Given the description of an element on the screen output the (x, y) to click on. 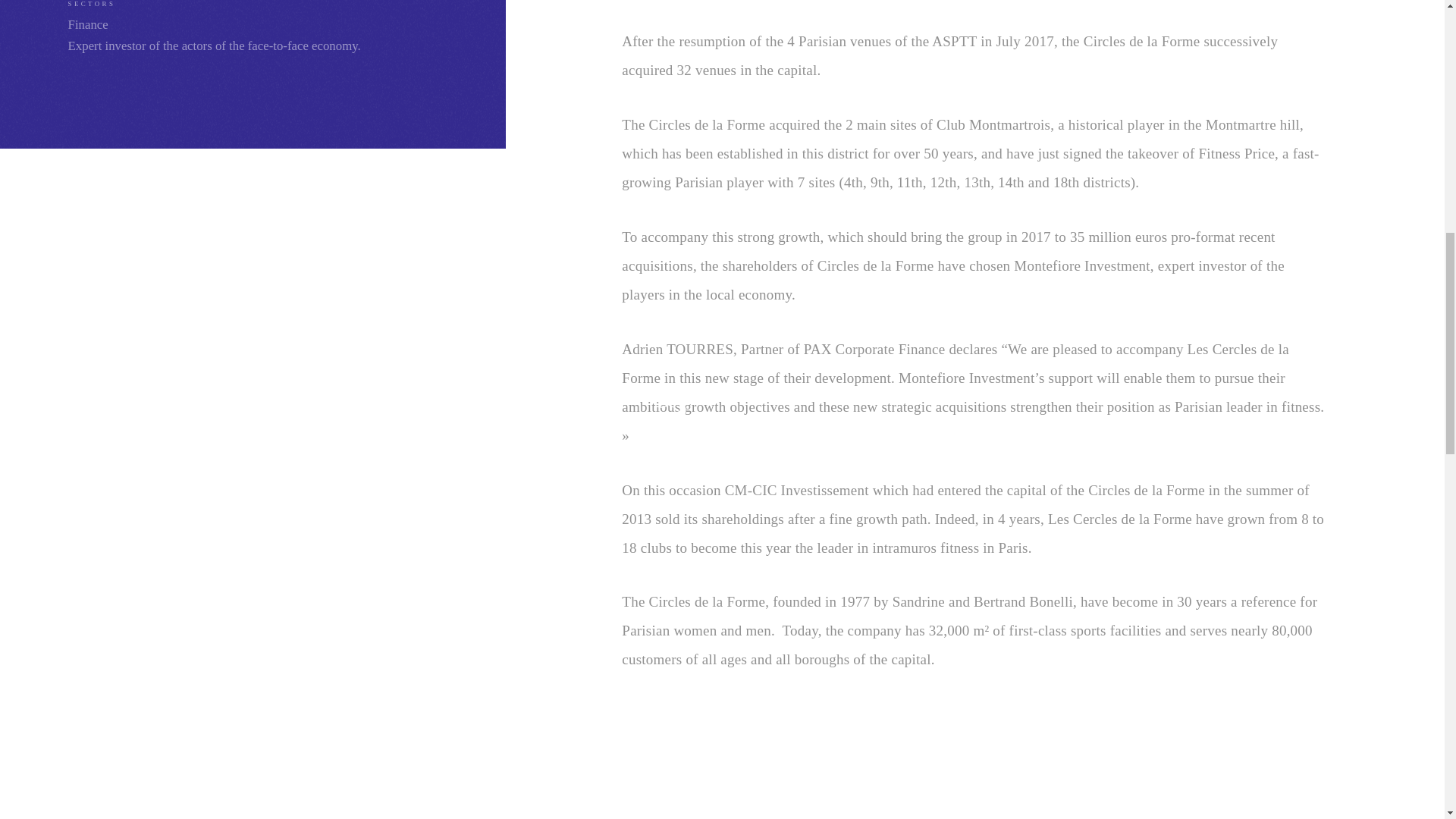
Fermer (1119, 28)
En savoir plus (839, 28)
